Given the description of an element on the screen output the (x, y) to click on. 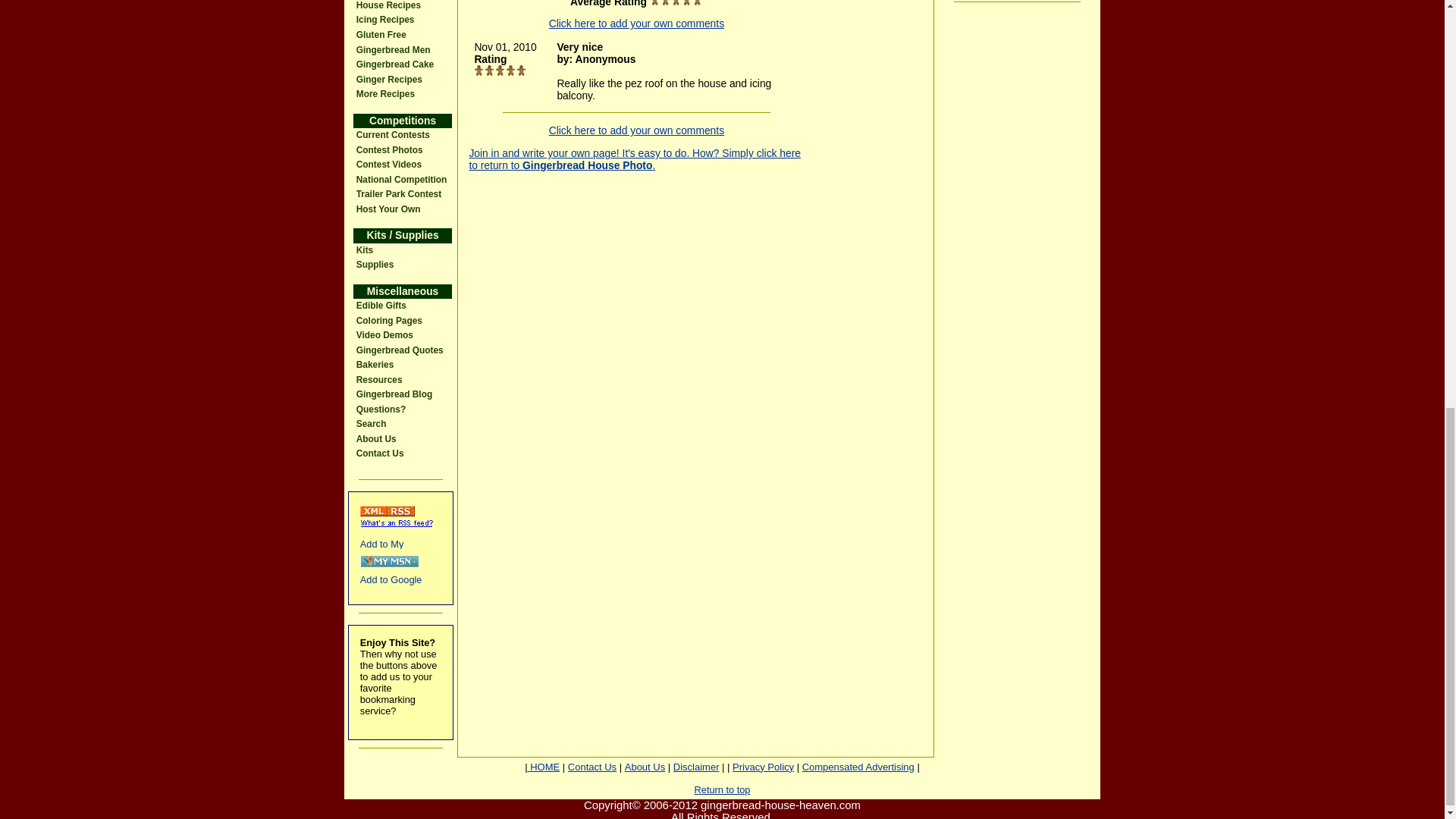
Click here to add your own comments (635, 23)
Click here to add your own comments (635, 130)
